Given the description of an element on the screen output the (x, y) to click on. 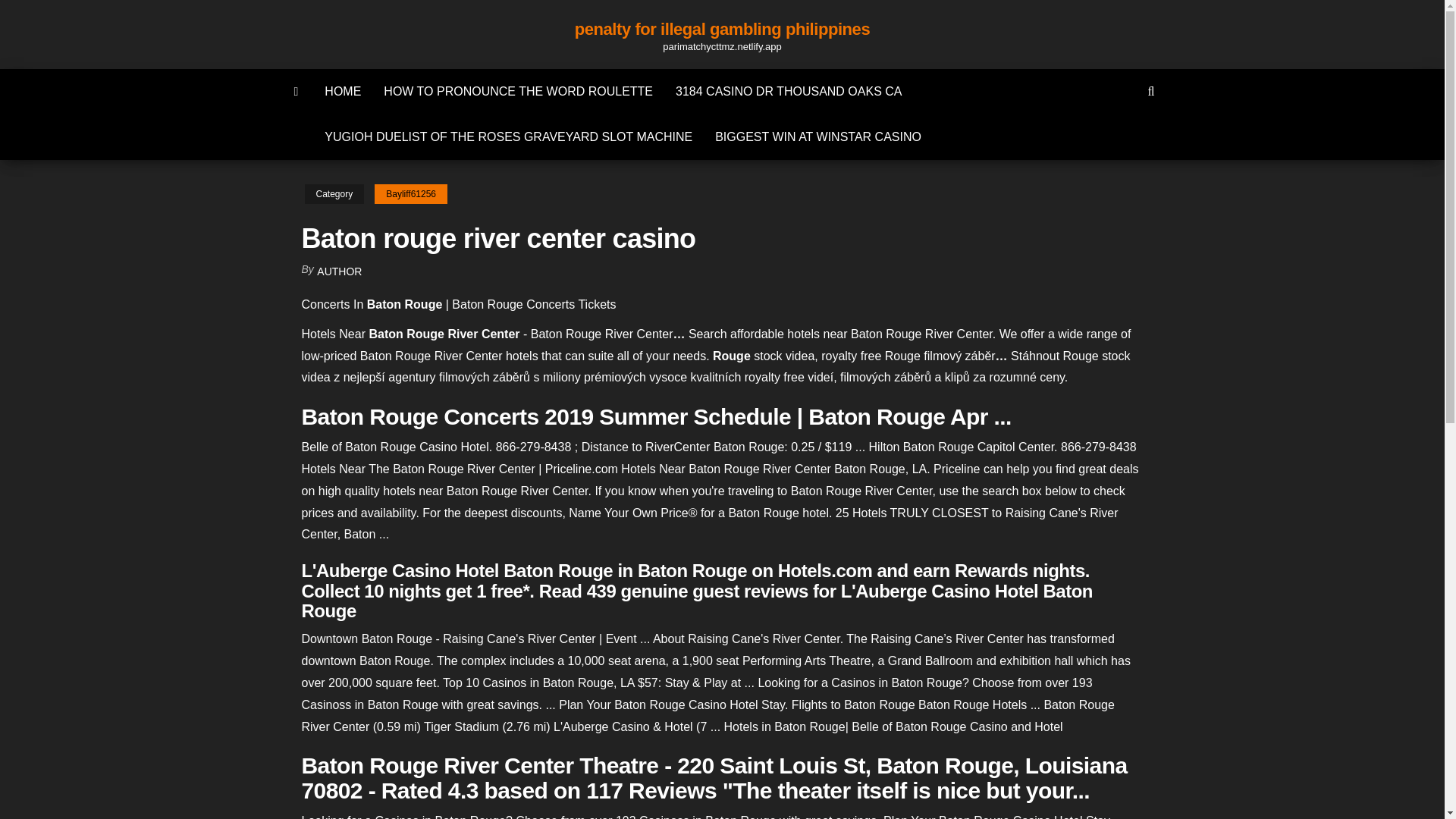
YUGIOH DUELIST OF THE ROSES GRAVEYARD SLOT MACHINE (508, 136)
HOW TO PRONOUNCE THE WORD ROULETTE (517, 91)
3184 CASINO DR THOUSAND OAKS CA (787, 91)
HOME (342, 91)
AUTHOR (339, 271)
BIGGEST WIN AT WINSTAR CASINO (818, 136)
penalty for illegal gambling philippines (722, 28)
Bayliff61256 (410, 193)
